Given the description of an element on the screen output the (x, y) to click on. 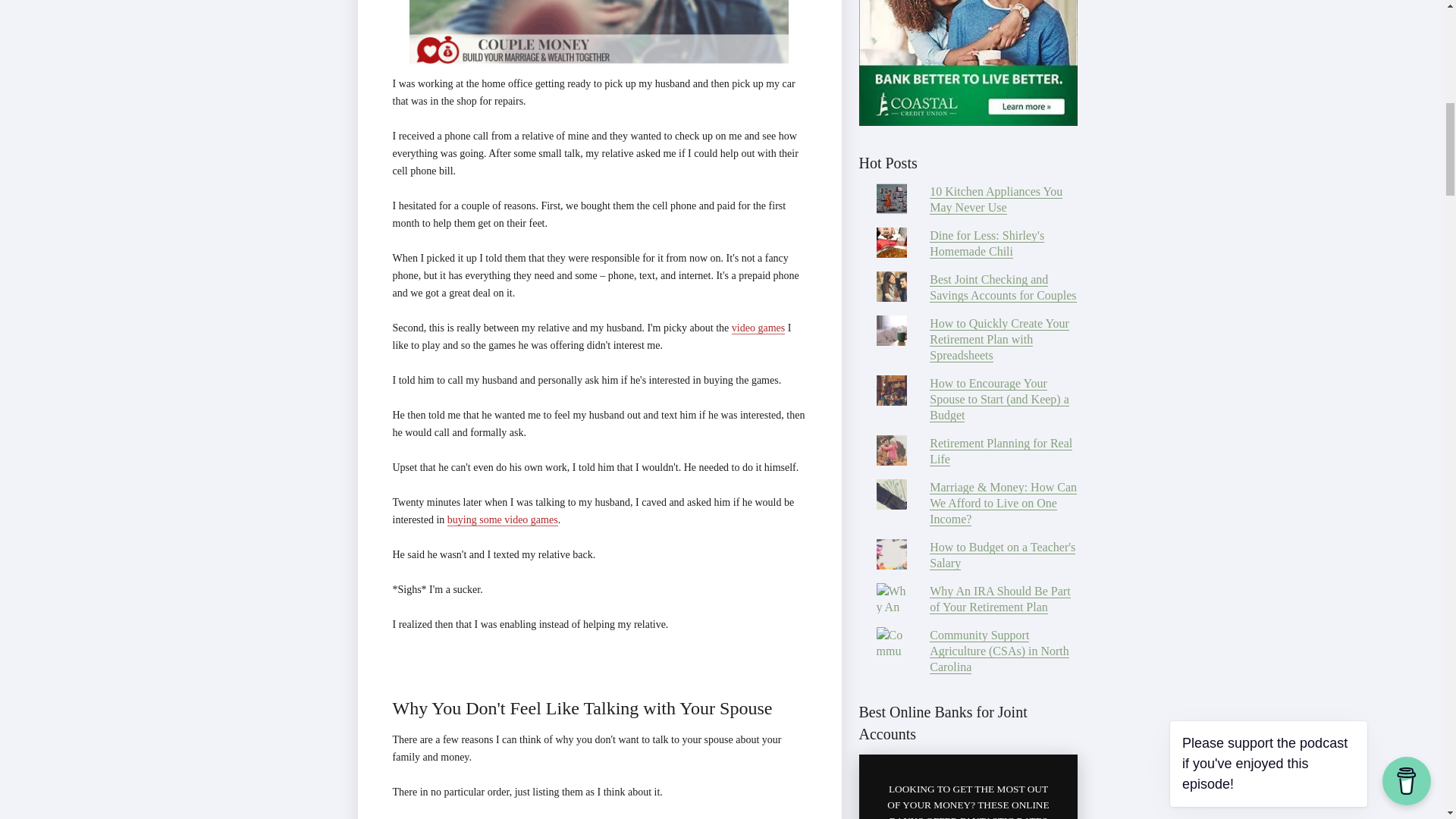
buying some video games (501, 520)
buying some video games (501, 520)
video games (758, 327)
video games (758, 327)
